Given the description of an element on the screen output the (x, y) to click on. 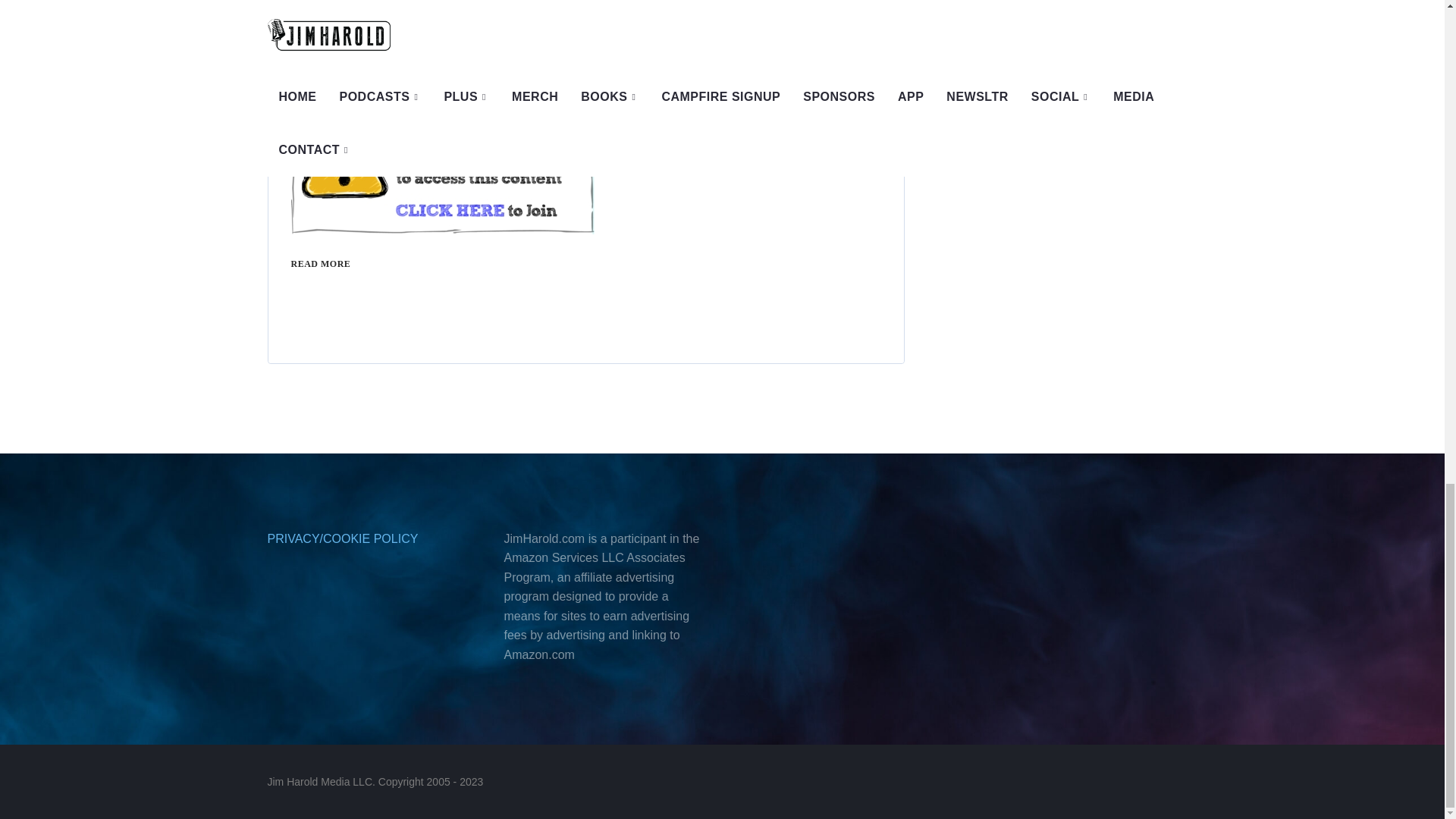
members-only-sorry JPG (442, 165)
